Given the description of an element on the screen output the (x, y) to click on. 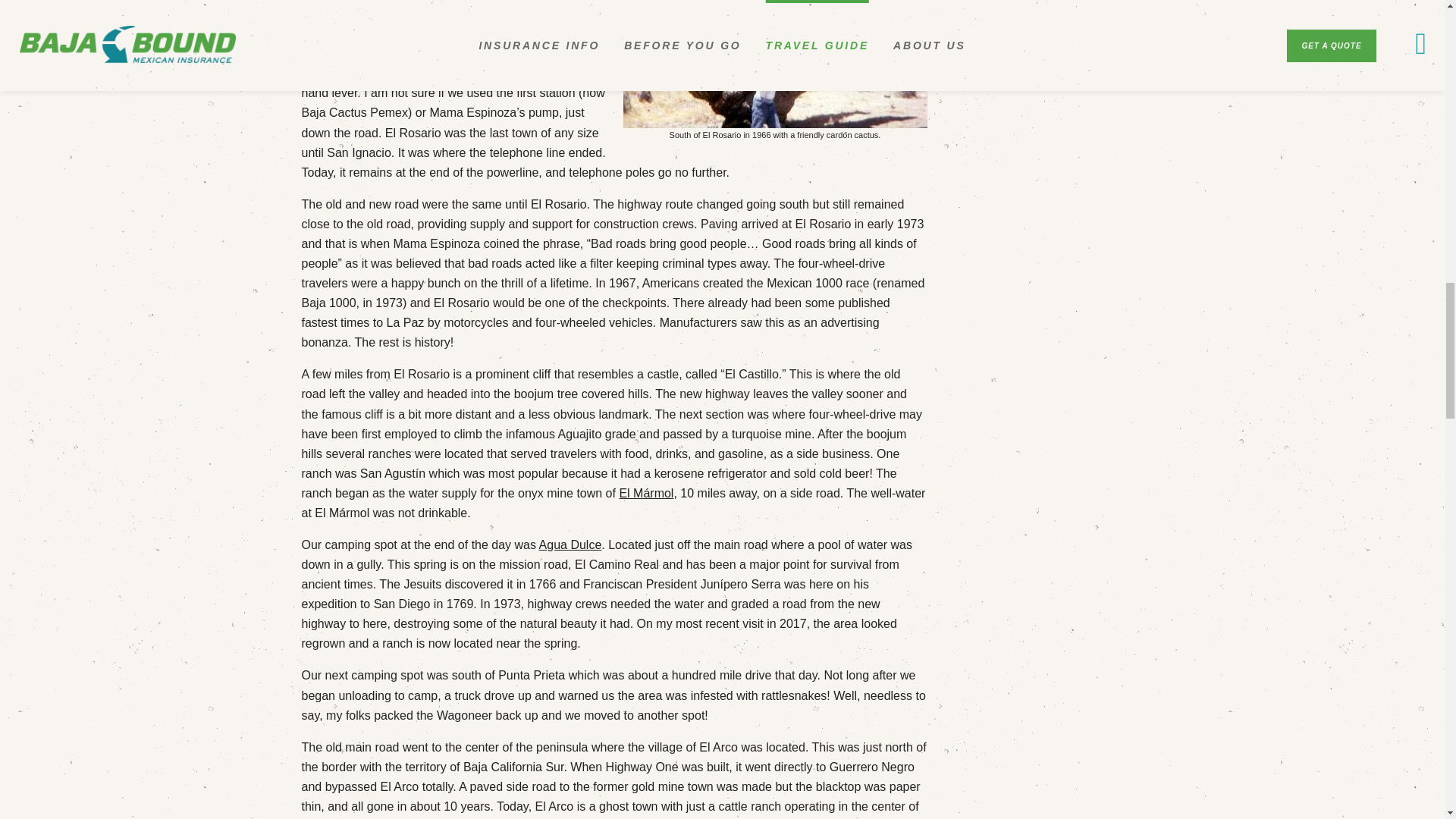
Agua Dulce (570, 544)
